Given the description of an element on the screen output the (x, y) to click on. 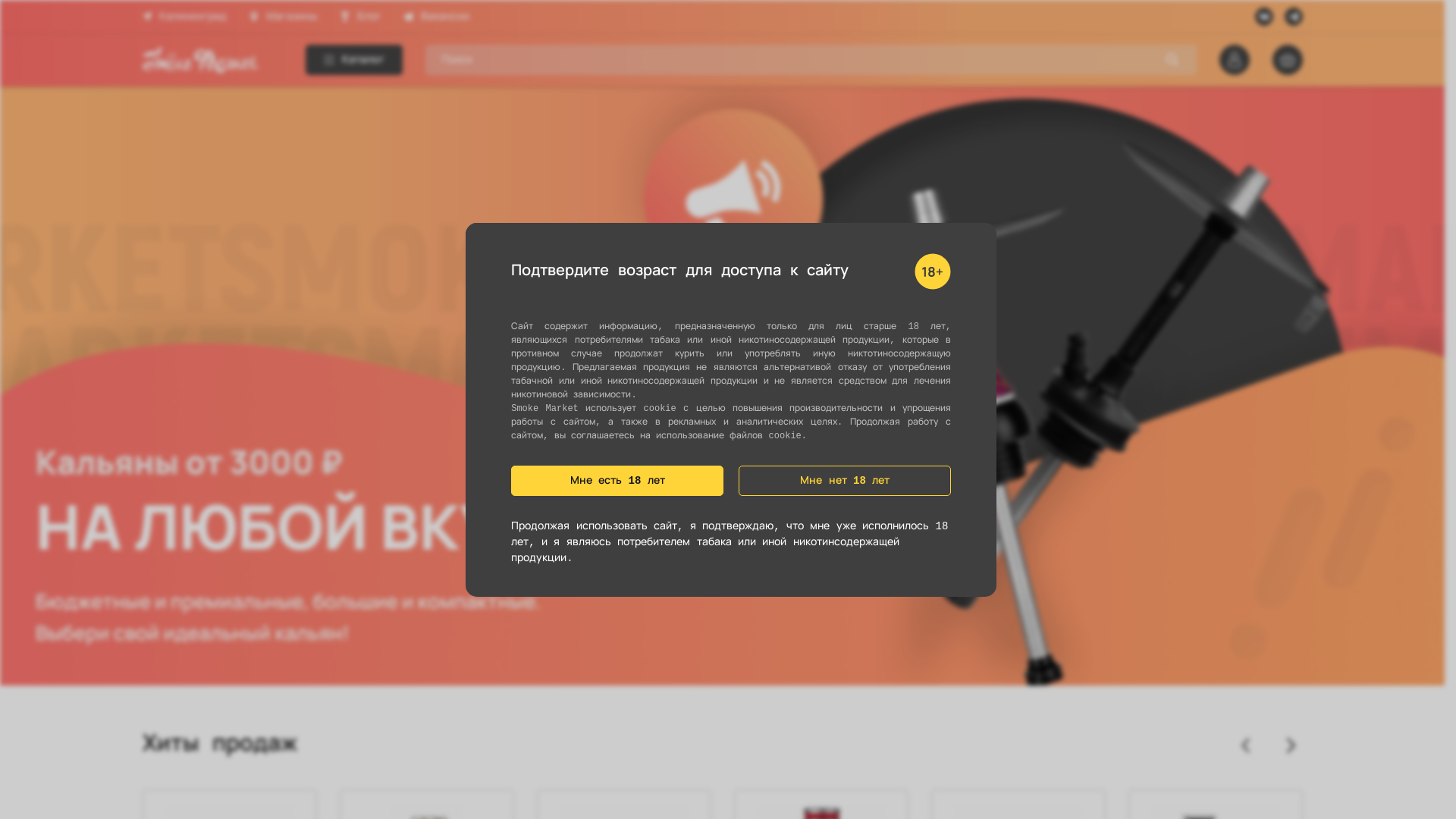
Telegram Element type: hover (1293, 16)
